Given the description of an element on the screen output the (x, y) to click on. 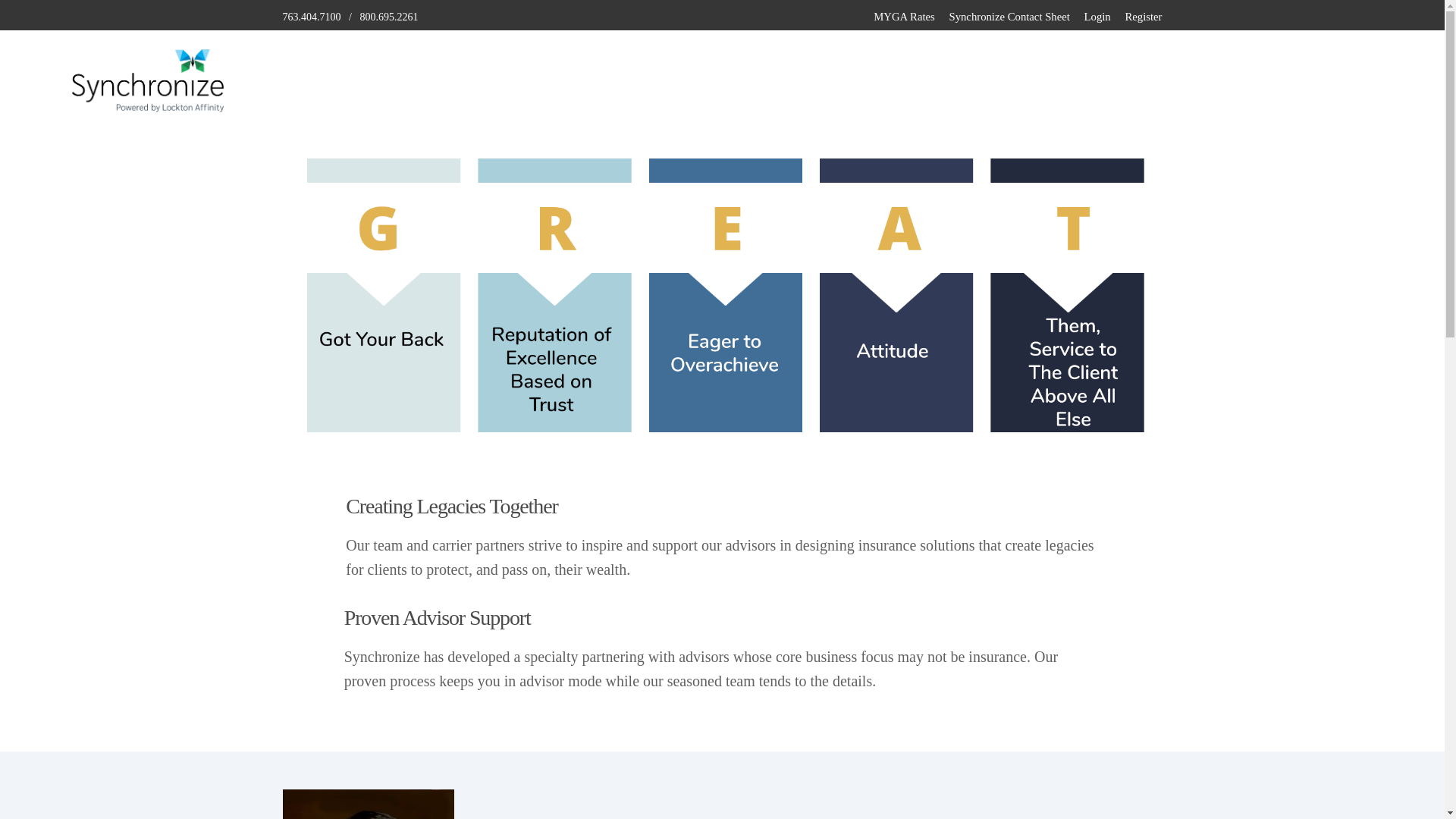
Synchronize-logo-tagline-color (147, 79)
Login (1097, 16)
MYGA Rates (903, 16)
Register (1142, 16)
Synchronize Contact Sheet (1008, 16)
Synchronize (147, 106)
